Given the description of an element on the screen output the (x, y) to click on. 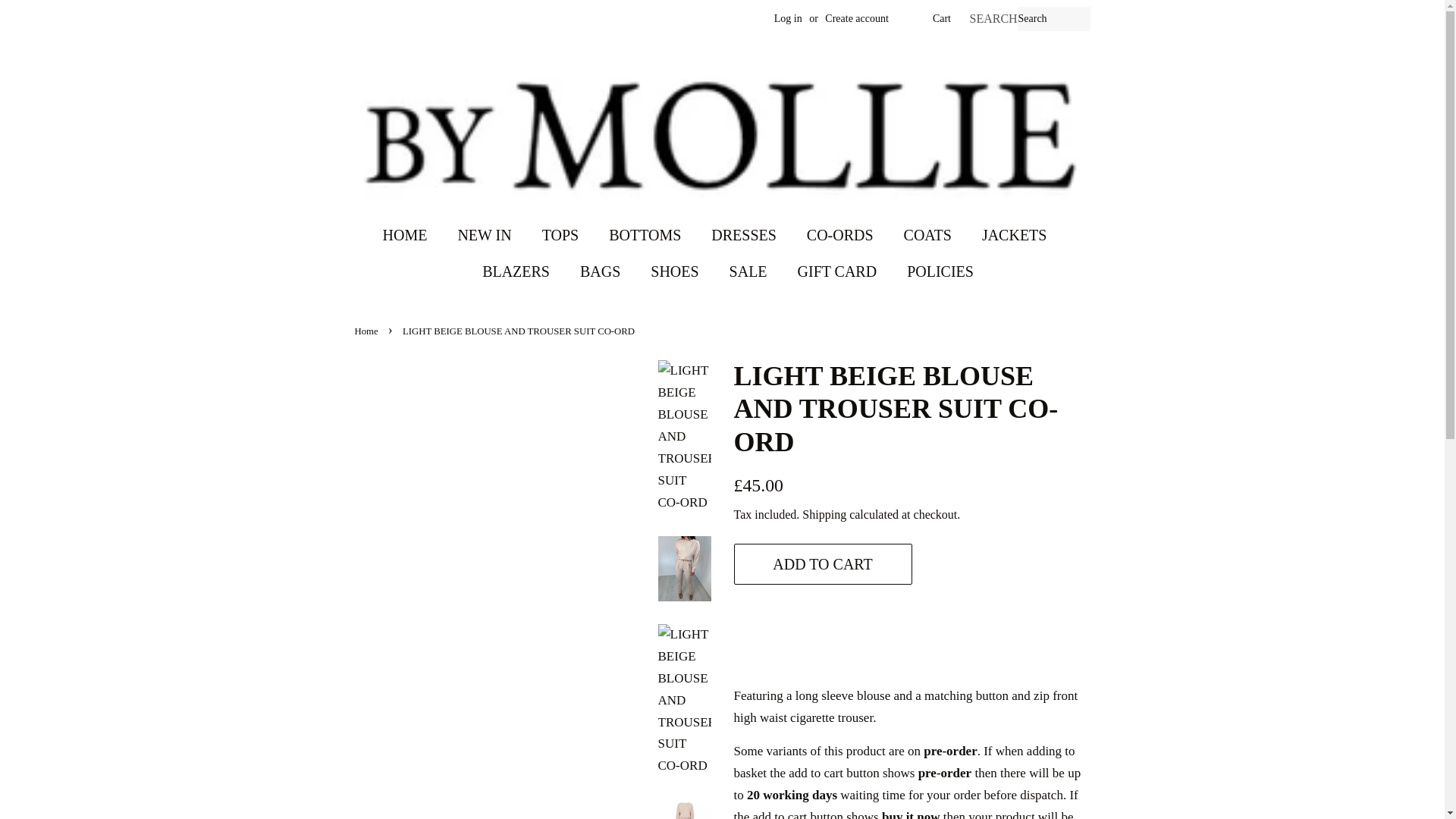
Cart (941, 18)
Create account (856, 18)
Back to the frontpage (368, 330)
Log in (788, 18)
SEARCH (993, 18)
